Given the description of an element on the screen output the (x, y) to click on. 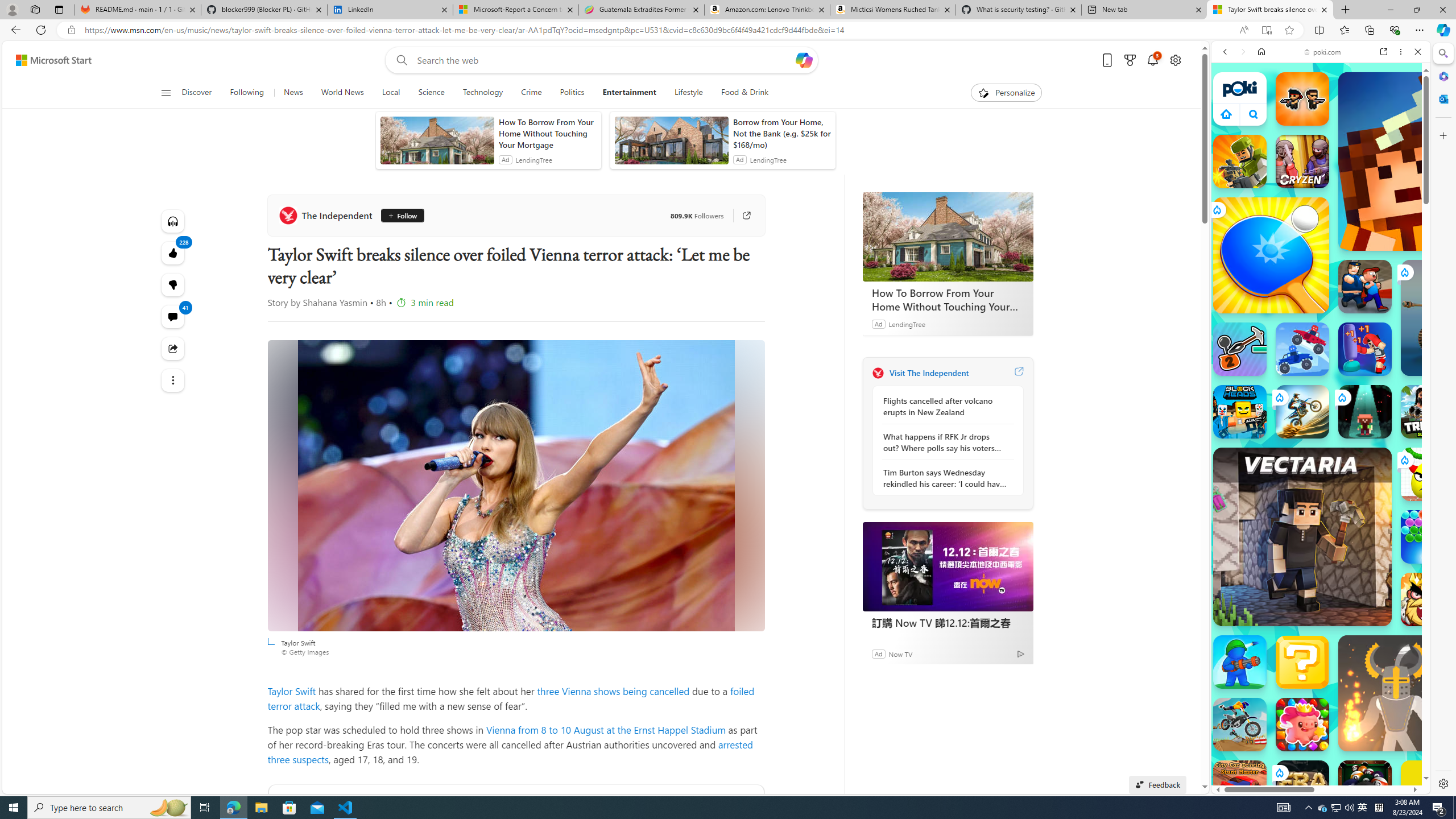
8 Ball Pool With Buddies 8 Ball Pool With Buddies (1364, 787)
Sports Games (1320, 379)
Combat Reloaded (1349, 523)
Now TV (900, 653)
8 Ball Pool With Buddies (1364, 787)
foiled terror attack (510, 697)
Tribals.io (1427, 411)
